Given the description of an element on the screen output the (x, y) to click on. 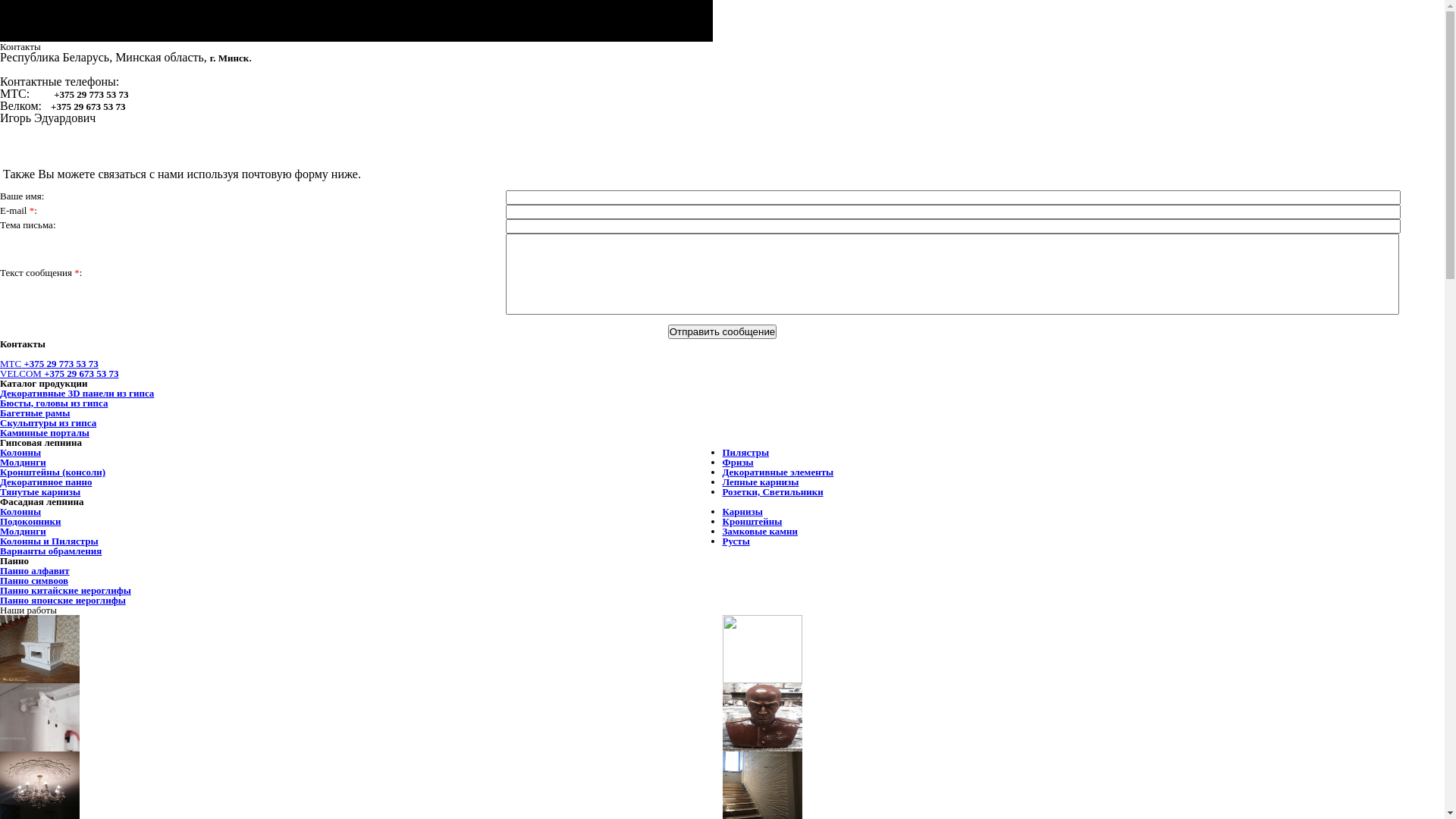
VELCOM +375 29 673 53 73 Element type: text (59, 373)
